Given the description of an element on the screen output the (x, y) to click on. 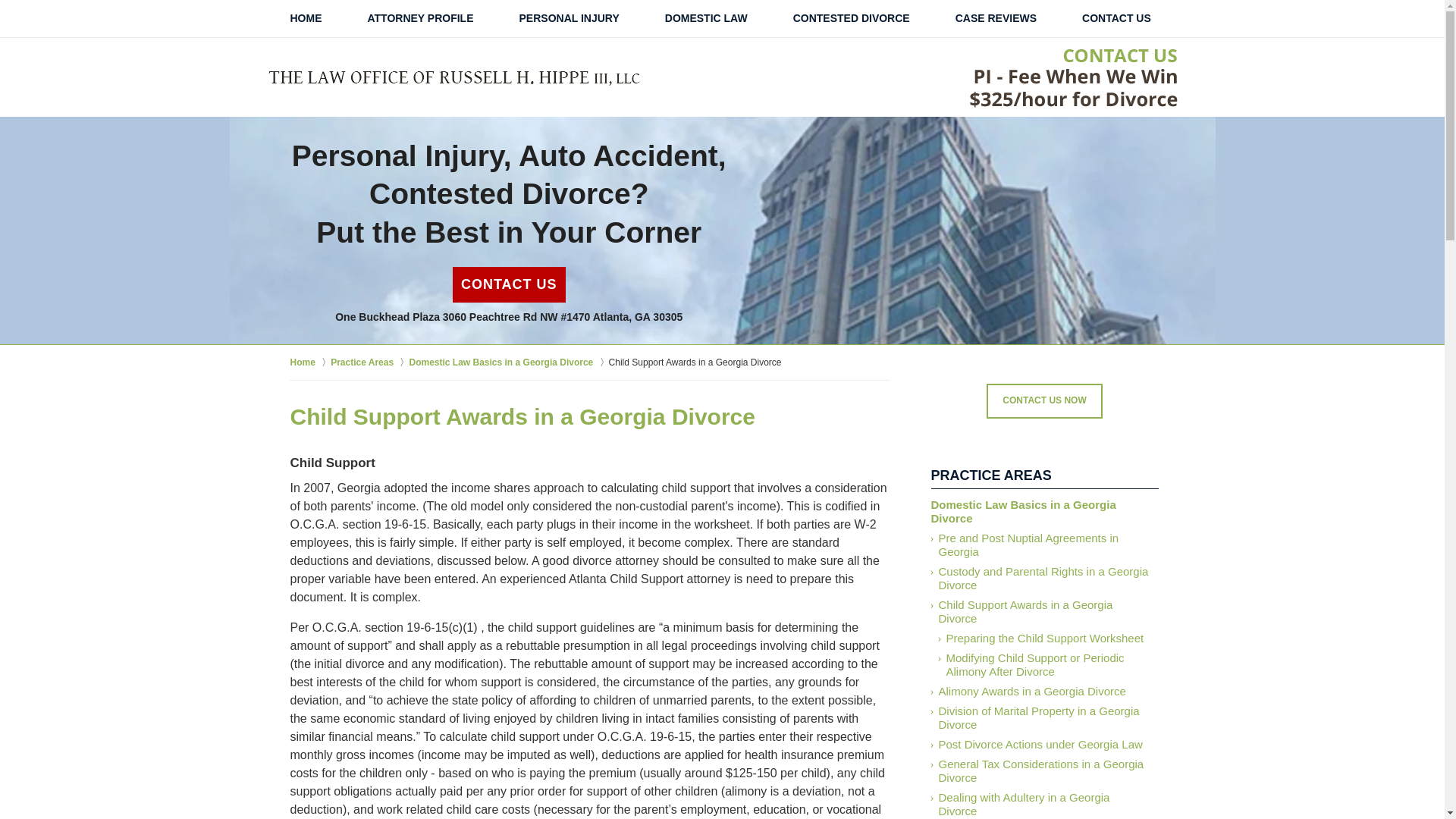
CONTESTED DIVORCE (851, 18)
The Law Office of Russell H. Hippe III, LLC Home (453, 78)
PERSONAL INJURY (569, 18)
CASE REVIEWS (996, 18)
Pre and Post Nuptial Agreements in Georgia (1043, 544)
Division of Marital Property in a Georgia Divorce (1043, 717)
Dealing with Adultery in a Georgia Divorce (1043, 803)
Domestic Law Basics in a Georgia Divorce (1043, 511)
General Tax Considerations in a Georgia Divorce (1043, 770)
Custody and Parental Rights in a Georgia Divorce (1043, 578)
